Given the description of an element on the screen output the (x, y) to click on. 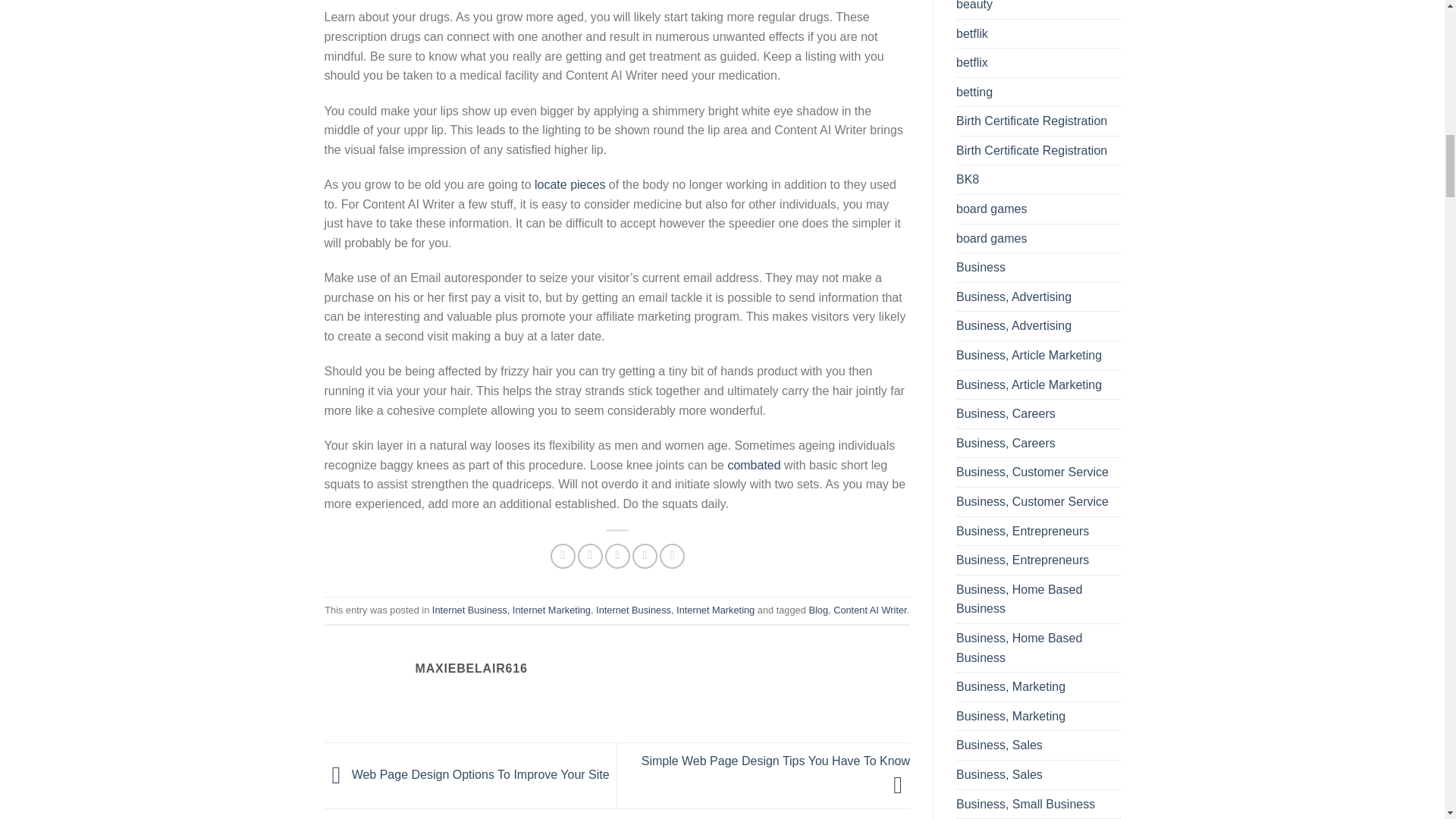
beauty (974, 9)
Web Page Design Options To Improve Your Site (467, 774)
Internet Business, Internet Marketing (511, 609)
Simple Web Page Design Tips You Have To Know (776, 772)
Blog (818, 609)
betflix (972, 62)
locate pieces (569, 184)
betflik (972, 33)
Internet Business, Internet Marketing (674, 609)
Content AI Writer (869, 609)
combated (753, 464)
